Given the description of an element on the screen output the (x, y) to click on. 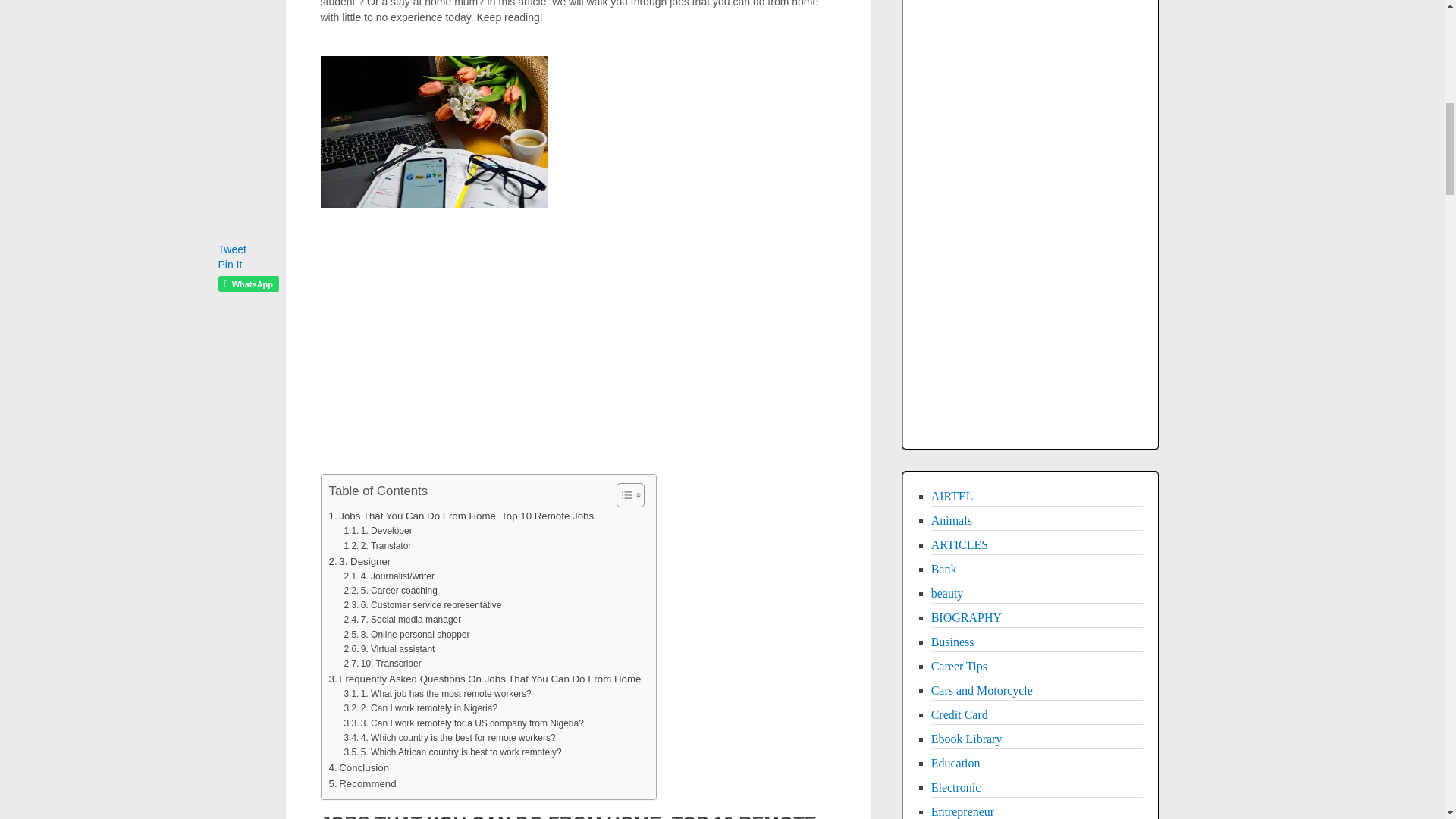
6. Customer service representative (421, 605)
Jobs That You Can Do From Home. Top 10 Remote Jobs. (462, 515)
Advertisement (577, 328)
5. Career coaching (390, 590)
1. Developer (377, 531)
2. Translator (376, 545)
7. Social media manager (402, 619)
3. Designer (360, 561)
